Given the description of an element on the screen output the (x, y) to click on. 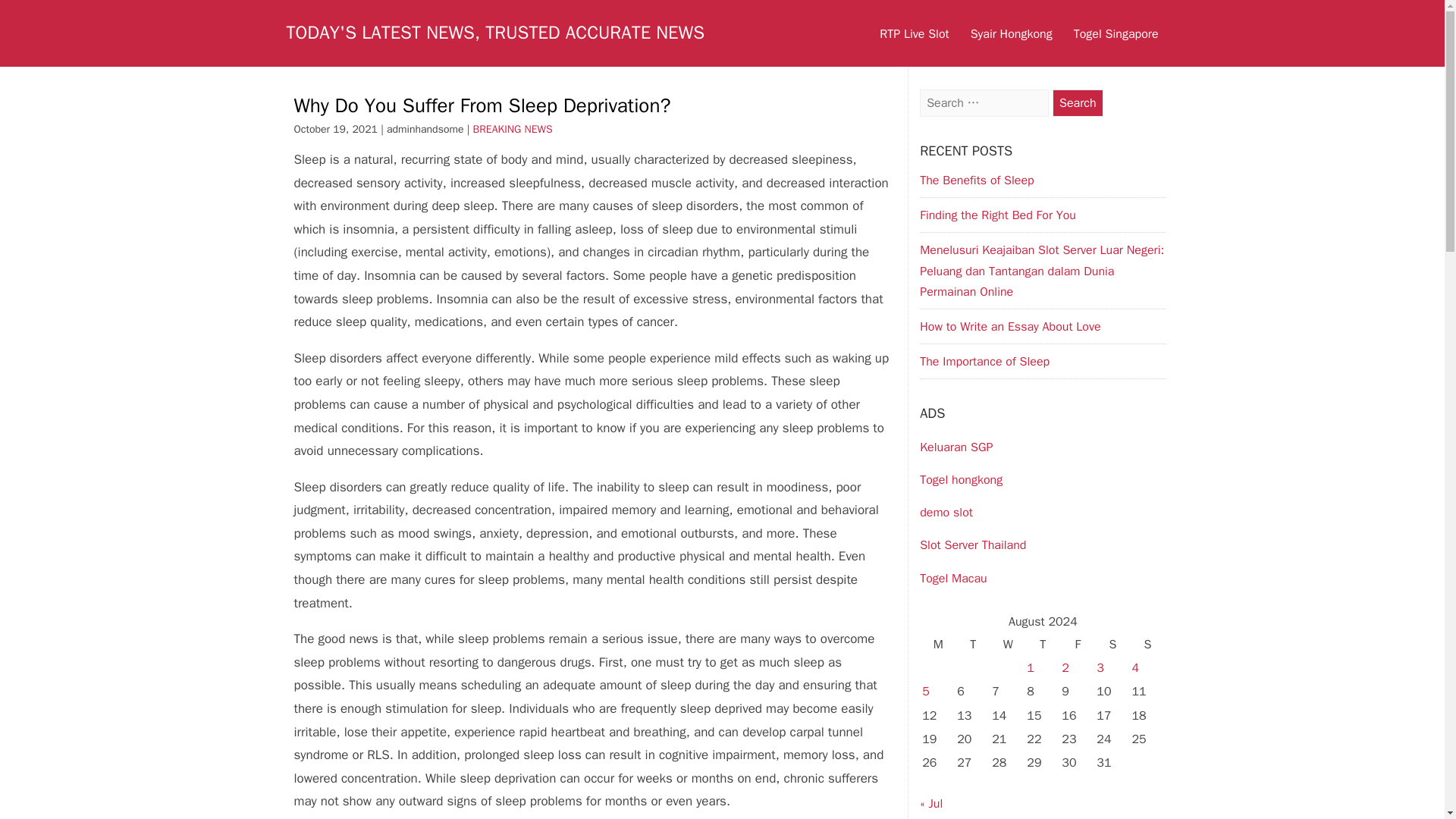
Search (1077, 103)
Wednesday (1008, 644)
Keluaran SGP (956, 447)
Monday (938, 644)
Togel Macau (953, 578)
Syair Hongkong (1010, 33)
Togel Singapore (1115, 33)
Togel hongkong (961, 479)
The Benefits of Sleep (976, 180)
RTP Live Slot (914, 33)
